Given the description of an element on the screen output the (x, y) to click on. 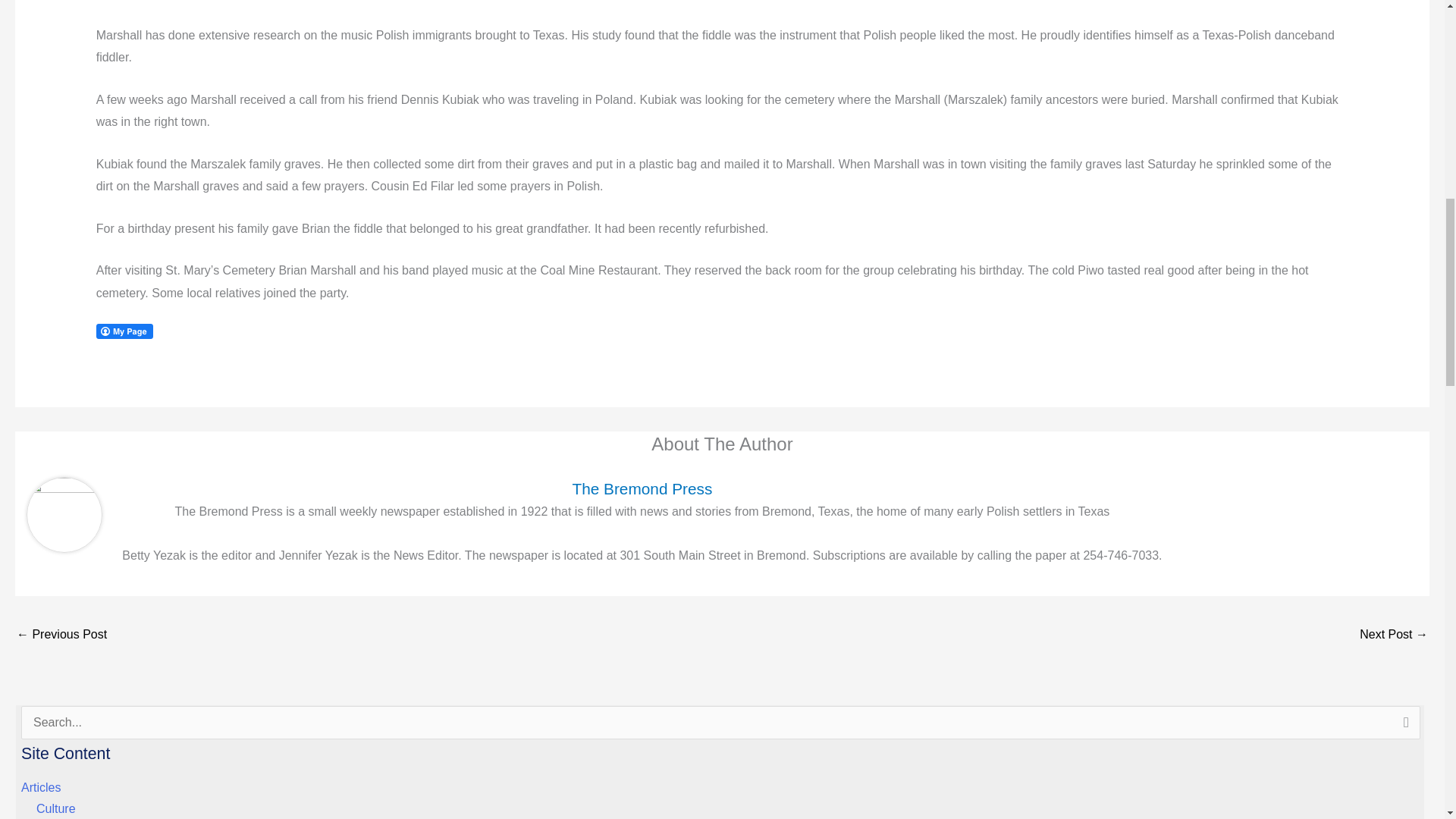
Folklife Festival in San Antonio (1393, 635)
